Given the description of an element on the screen output the (x, y) to click on. 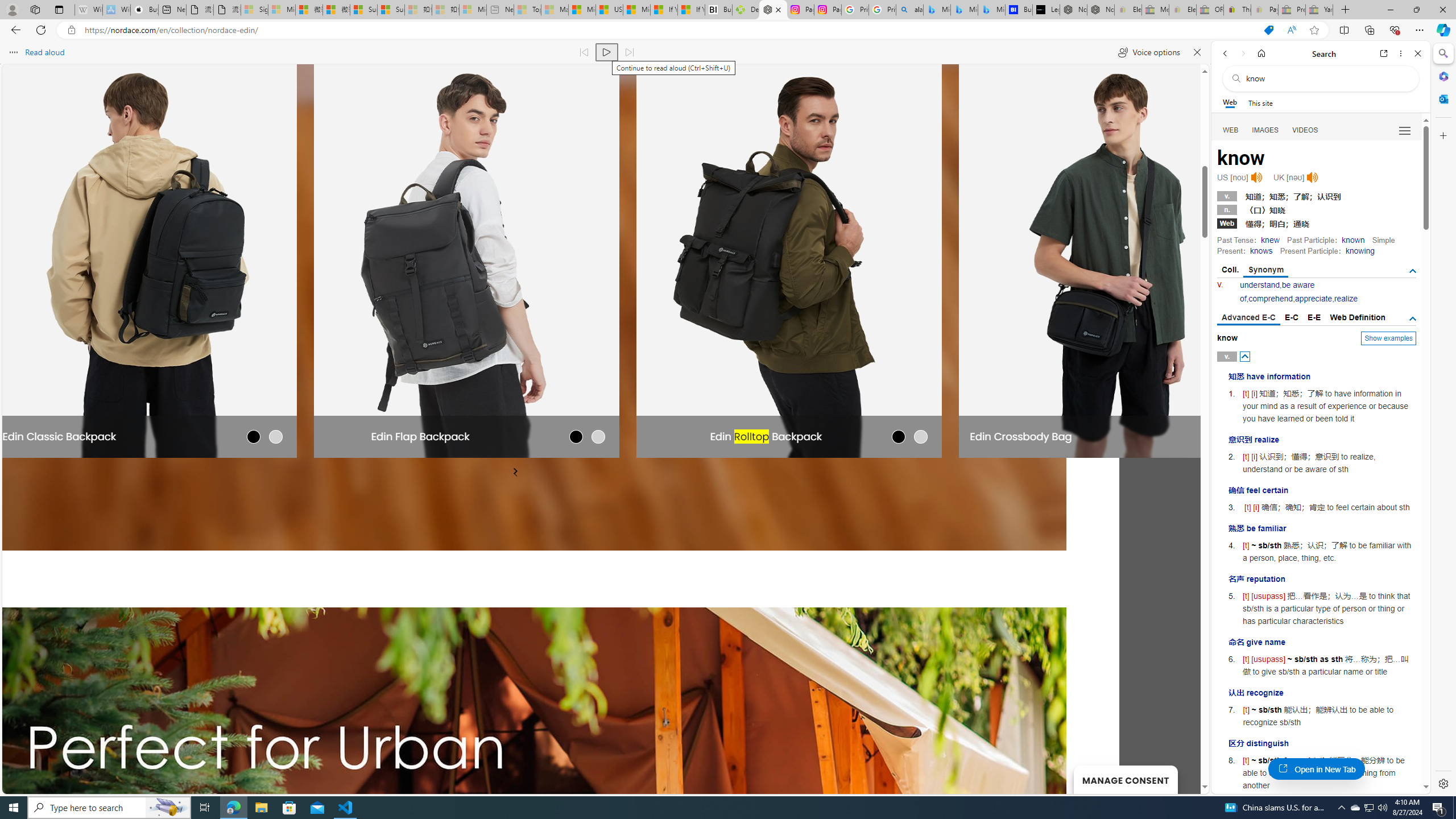
VIDEOS (1304, 130)
Light Gray (274, 436)
Search Filter, IMAGES (1265, 129)
known (1352, 239)
Threats and offensive language policy | eBay (1236, 9)
understand (1259, 284)
Microsoft 365 (1442, 76)
AutomationID: tgdef (1412, 318)
E-E (1314, 317)
Advanced E-C (1248, 318)
